Given the description of an element on the screen output the (x, y) to click on. 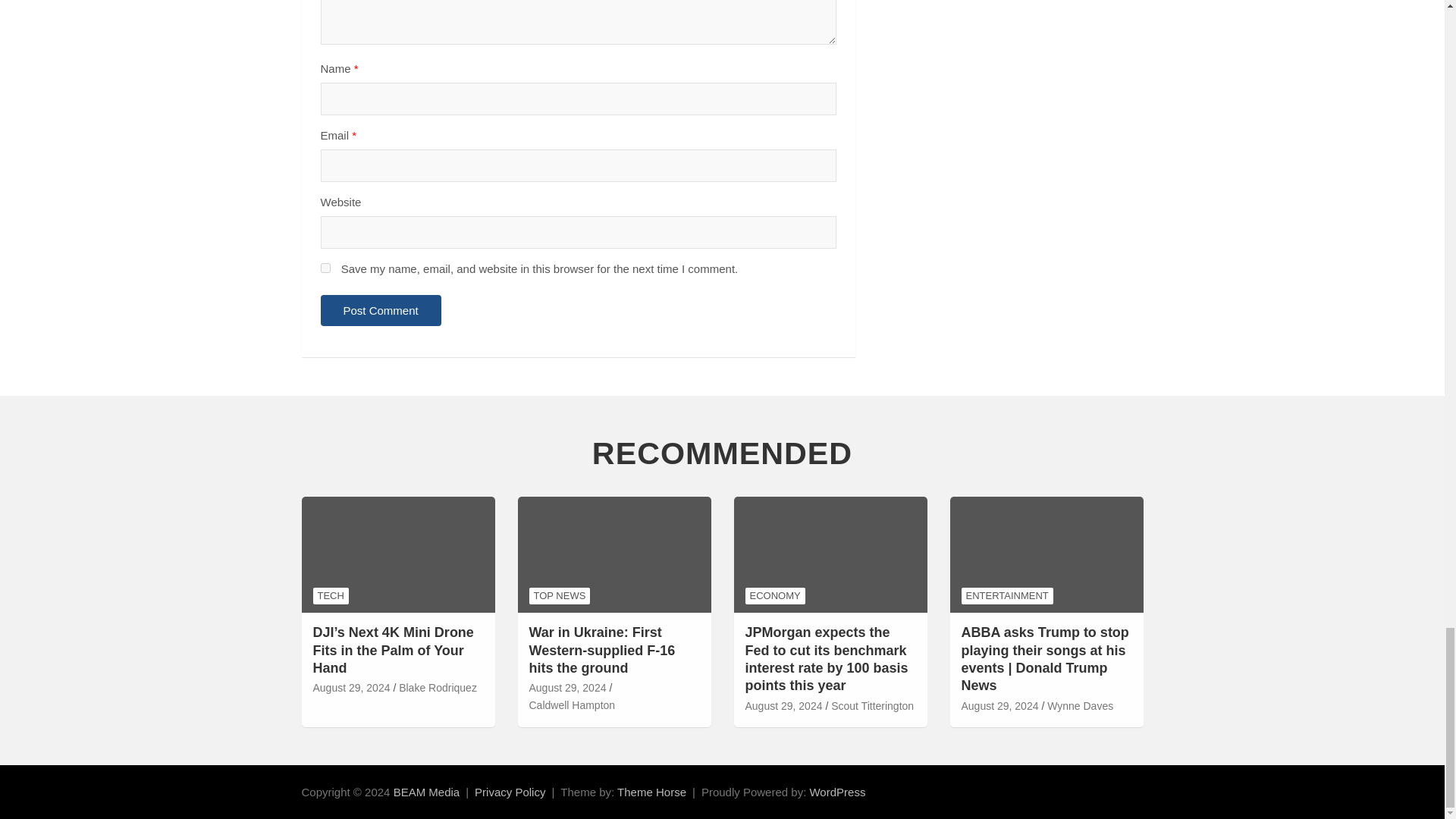
War in Ukraine: First Western-supplied F-16 hits the ground (568, 688)
Post Comment (380, 309)
August 29, 2024 (351, 688)
BEAM Media (426, 791)
Post Comment (380, 309)
Theme Horse (651, 791)
yes (325, 267)
WordPress (836, 791)
TECH (330, 596)
